Given the description of an element on the screen output the (x, y) to click on. 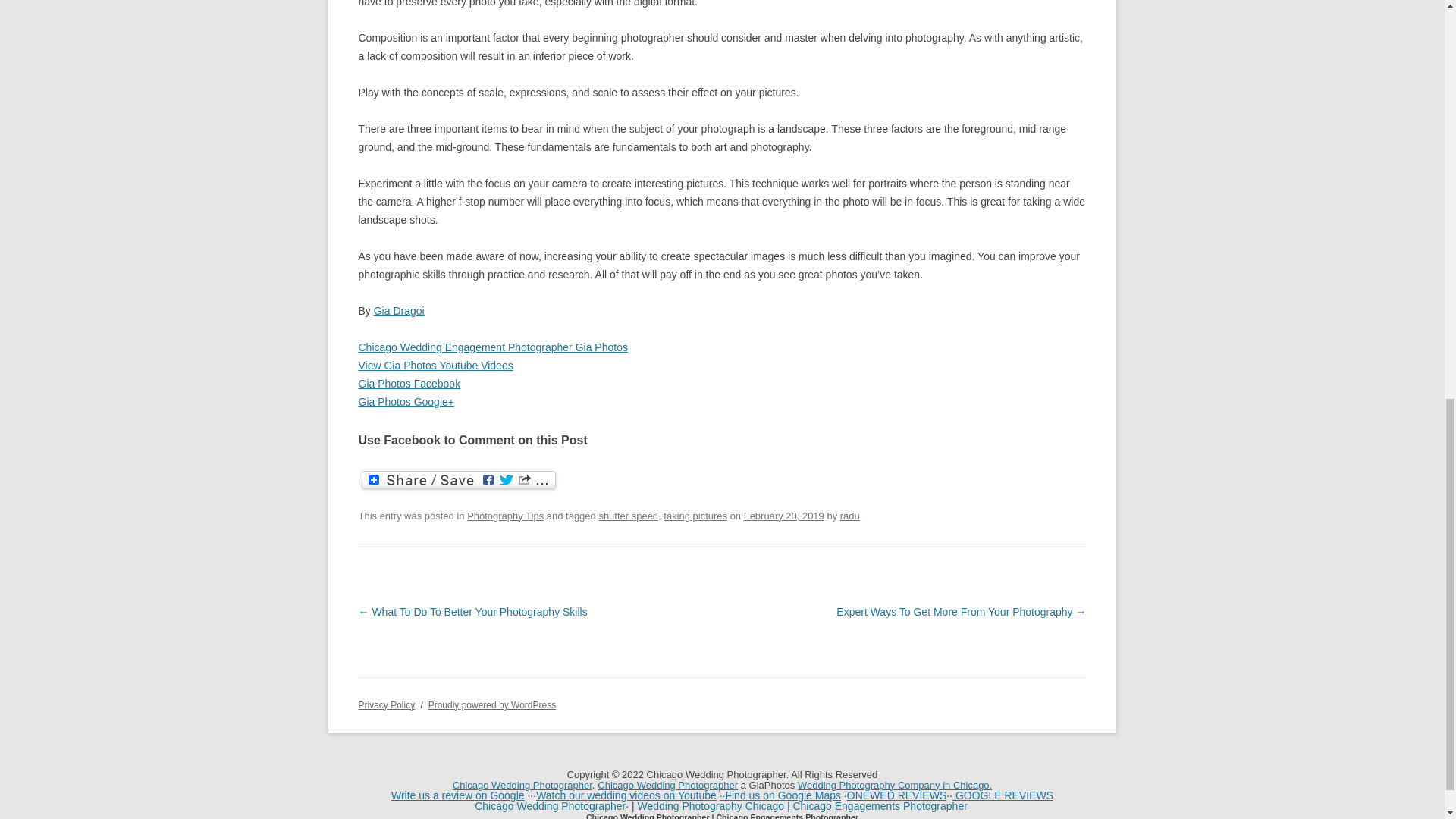
Chicago Wedding Photographer (550, 806)
Chicago Wedding Engagement Photographer Gia Photos (492, 346)
View all posts by radu (850, 515)
Watch our wedding videos on Youtube (625, 795)
Chicago Wedding Engagement Photographer Gia Photos (492, 346)
ONEWED REVIEWS (896, 795)
Gia Photos Facebook (409, 383)
Photography Tips (505, 515)
Semantic Personal Publishing Platform (492, 705)
Top Chicago Wedding Photographer (522, 785)
